Given the description of an element on the screen output the (x, y) to click on. 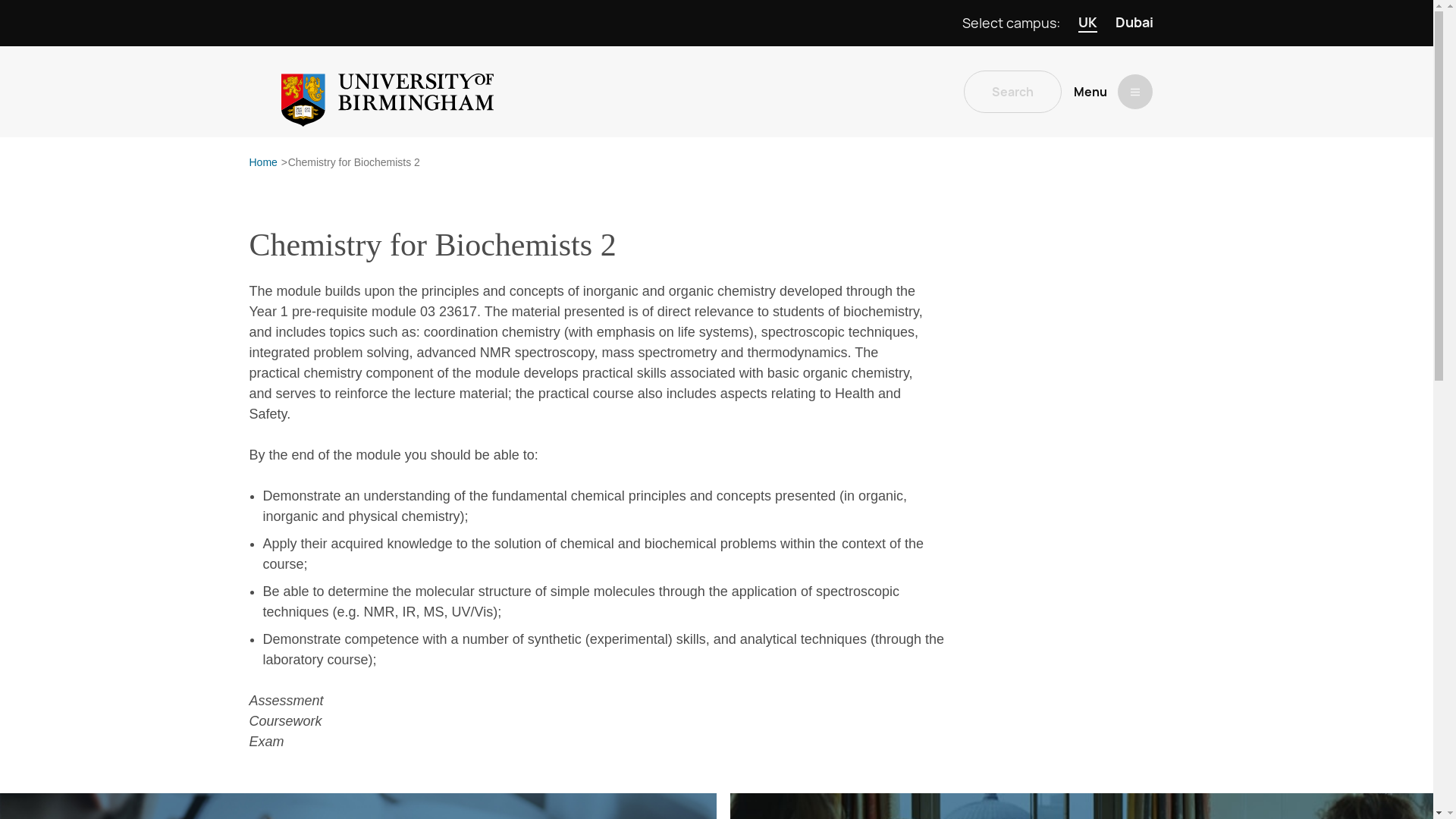
Dubai (1134, 23)
Home (262, 162)
Chemistry for Biochemists 2 (354, 162)
UK (1087, 23)
Search (1012, 91)
